Given the description of an element on the screen output the (x, y) to click on. 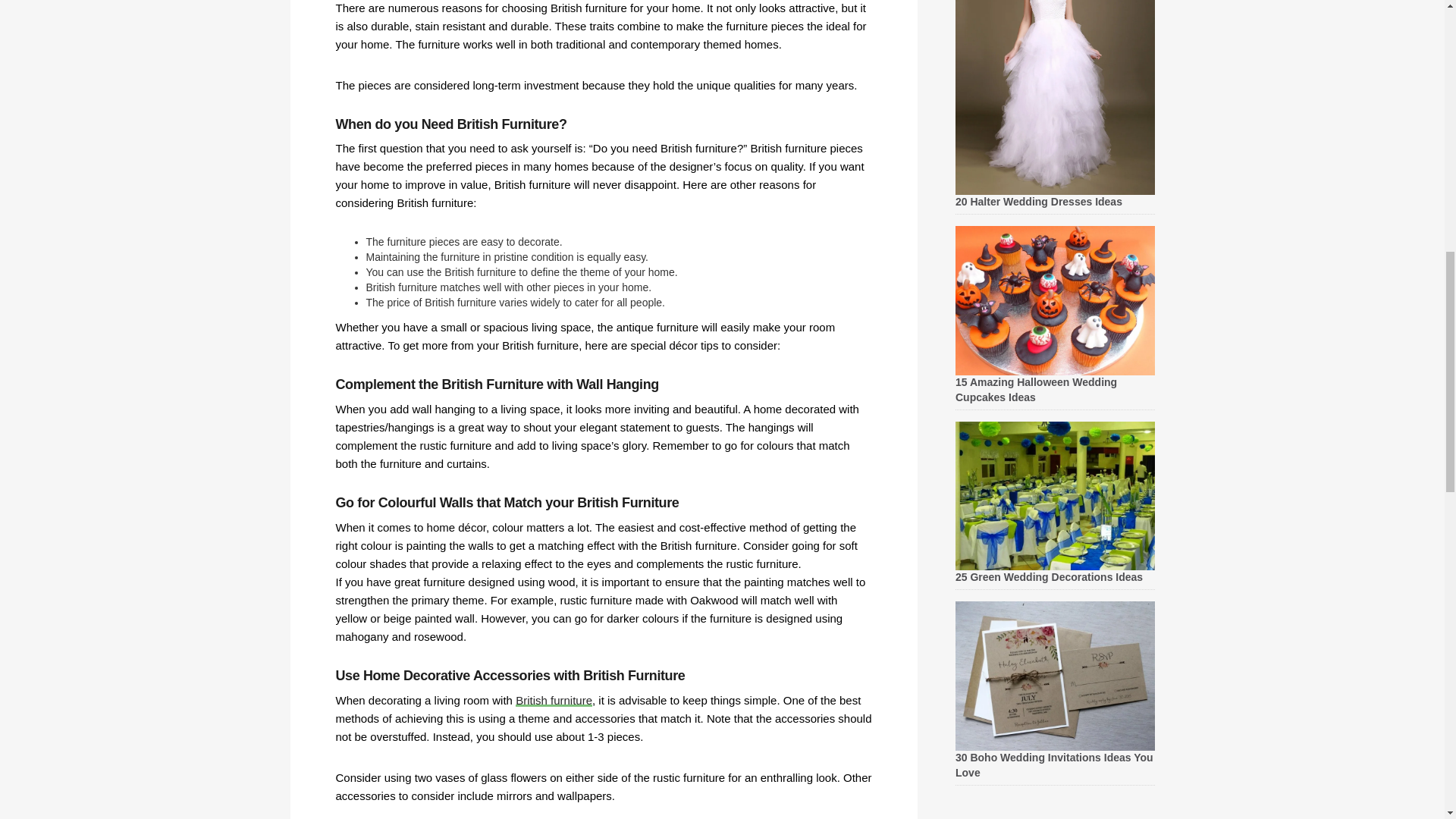
15 Amazing Halloween Wedding Cupcakes Ideas (1035, 389)
British furniture (553, 699)
20 Halter Wedding Dresses Ideas (1038, 201)
30 Boho Wedding Invitations Ideas You Love (1054, 764)
25 Green Wedding Decorations Ideas (1048, 576)
